Given the description of an element on the screen output the (x, y) to click on. 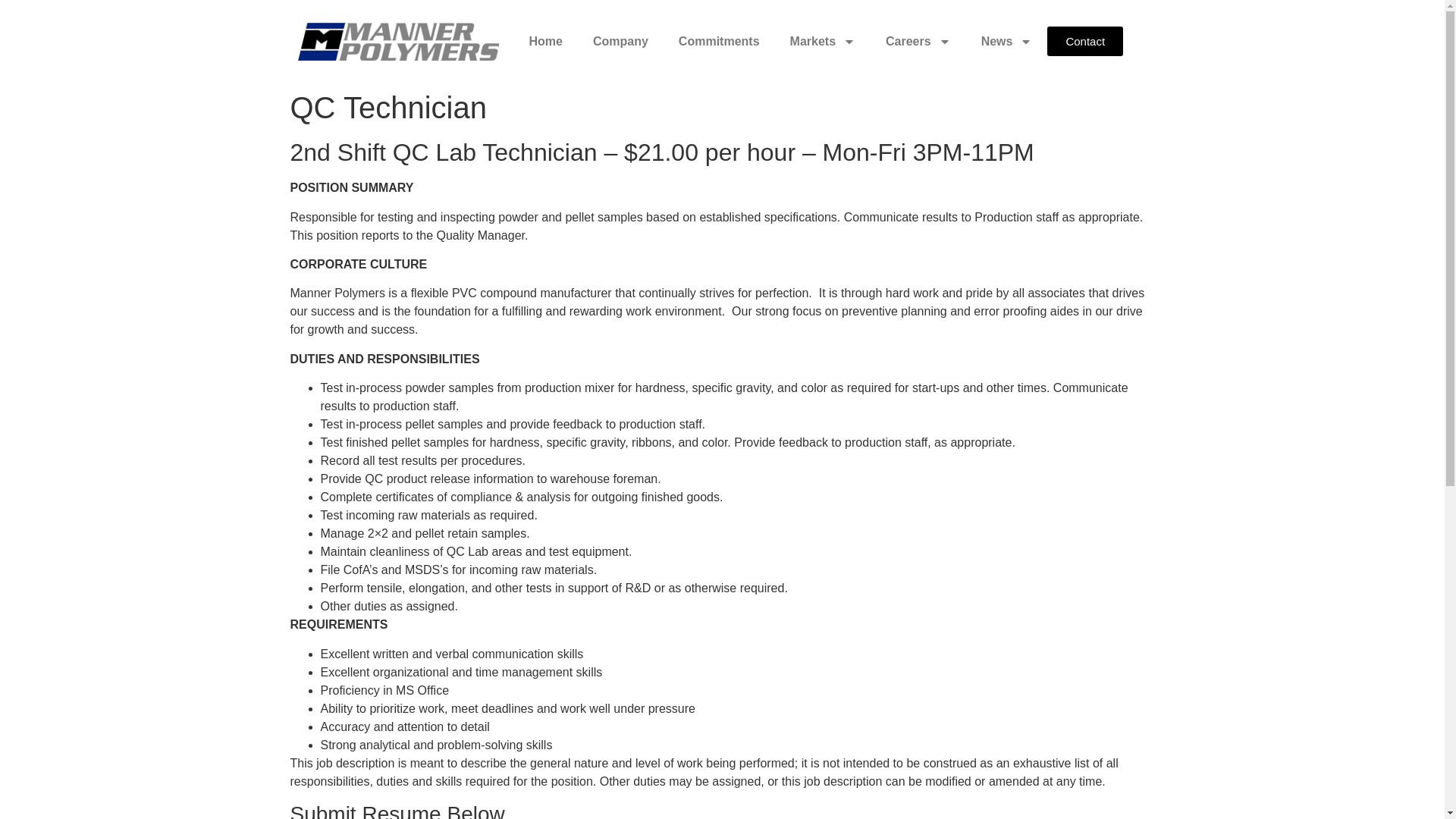
Company (620, 41)
Home (545, 41)
Markets (822, 41)
Commitments (718, 41)
